Given the description of an element on the screen output the (x, y) to click on. 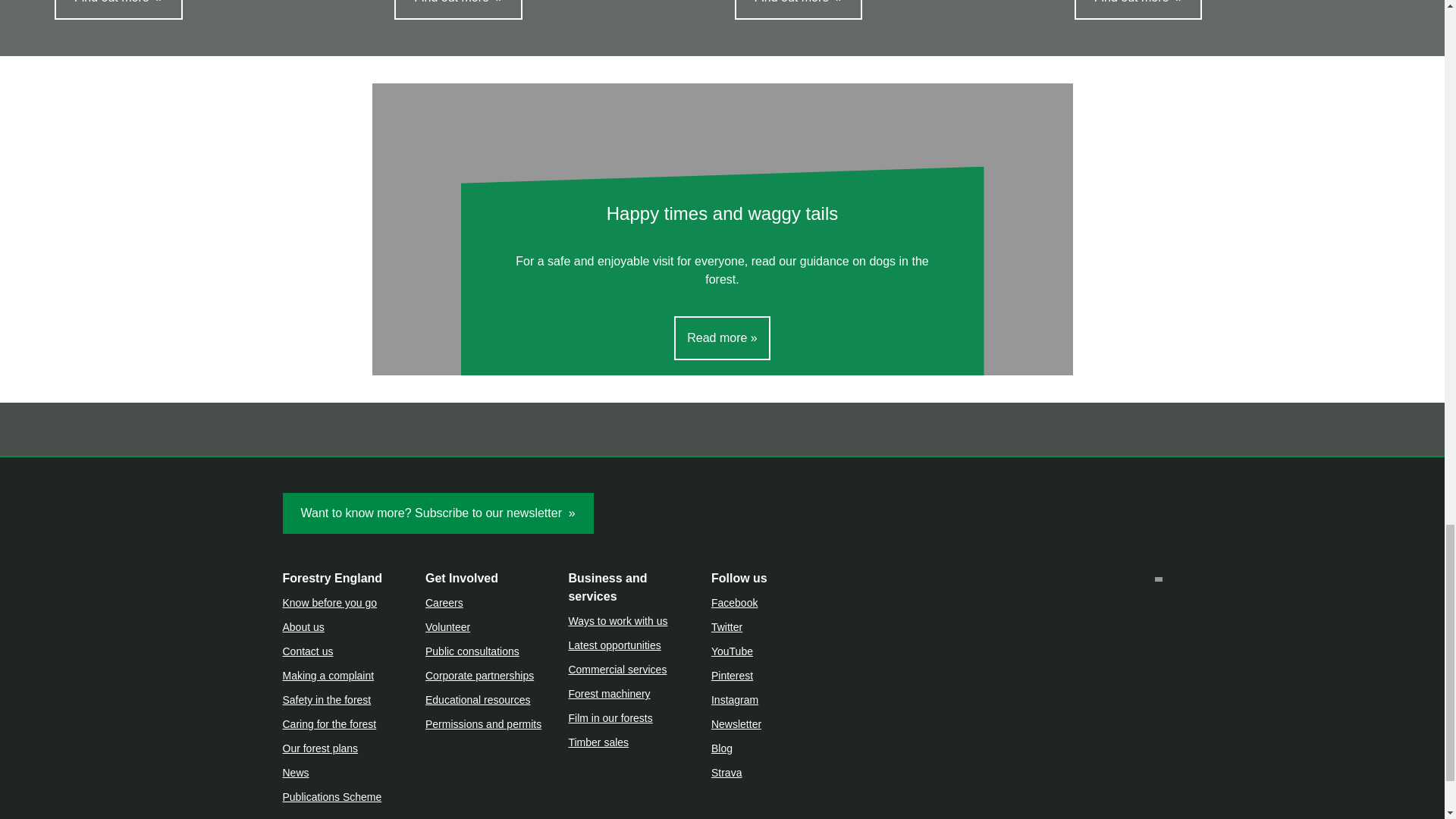
New Fancy (1138, 9)
Beechenhurst (119, 9)
Mallards Pike (797, 9)
Speech House Woods (458, 9)
